Given the description of an element on the screen output the (x, y) to click on. 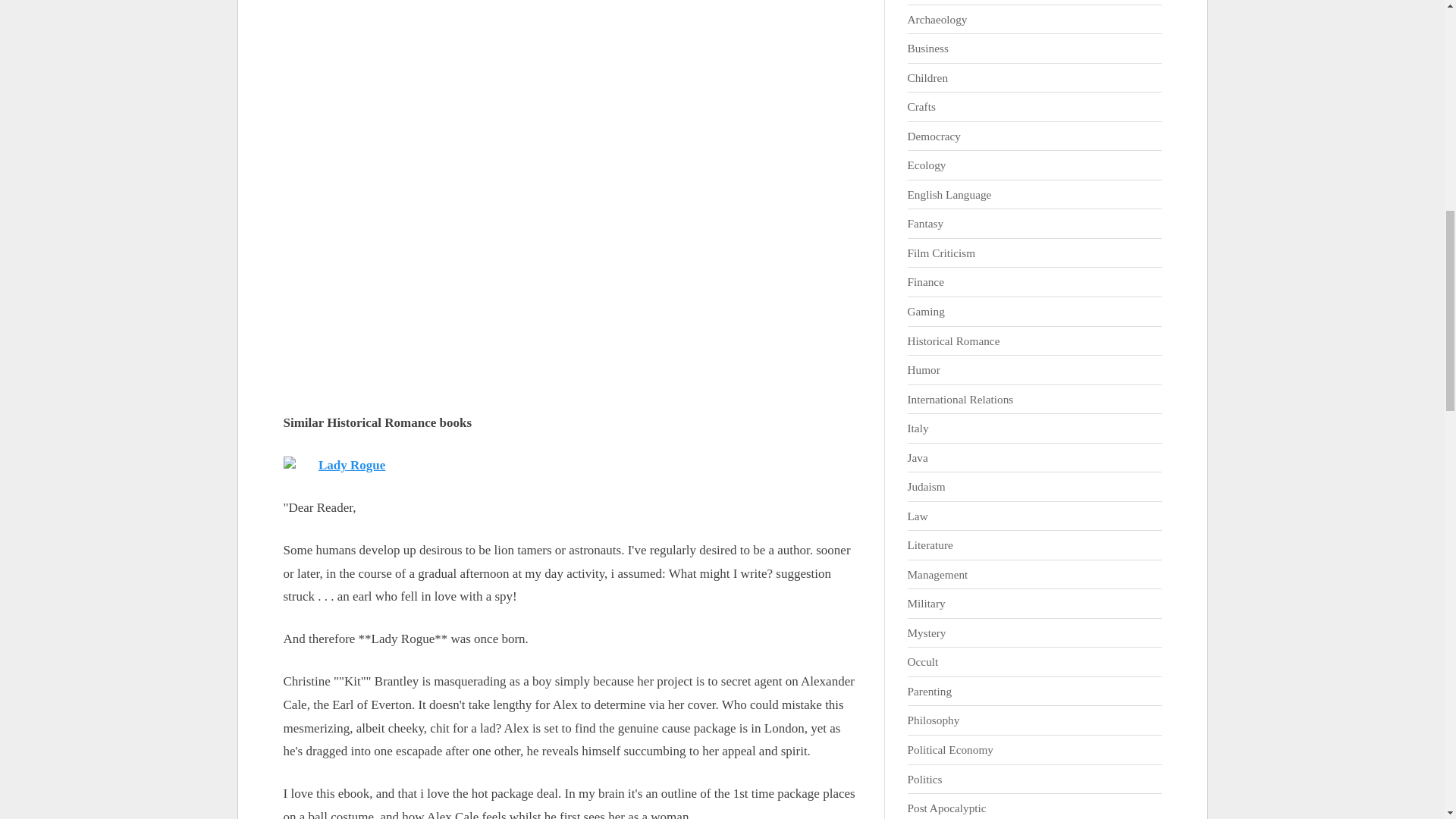
Lady Rogue (351, 464)
